Given the description of an element on the screen output the (x, y) to click on. 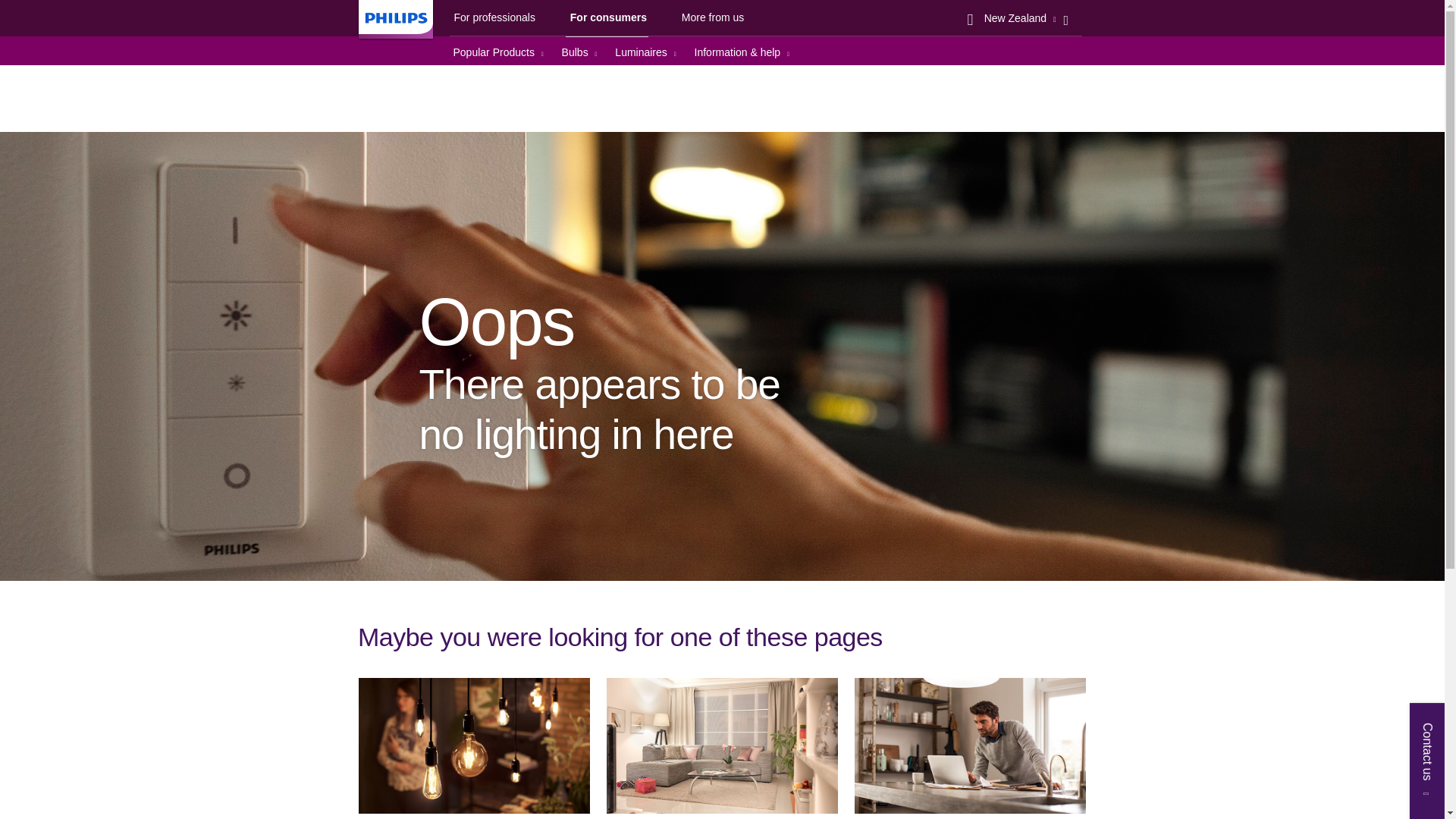
For consumers (606, 20)
More from us (711, 19)
Home (469, 78)
For professionals (491, 19)
